Given the description of an element on the screen output the (x, y) to click on. 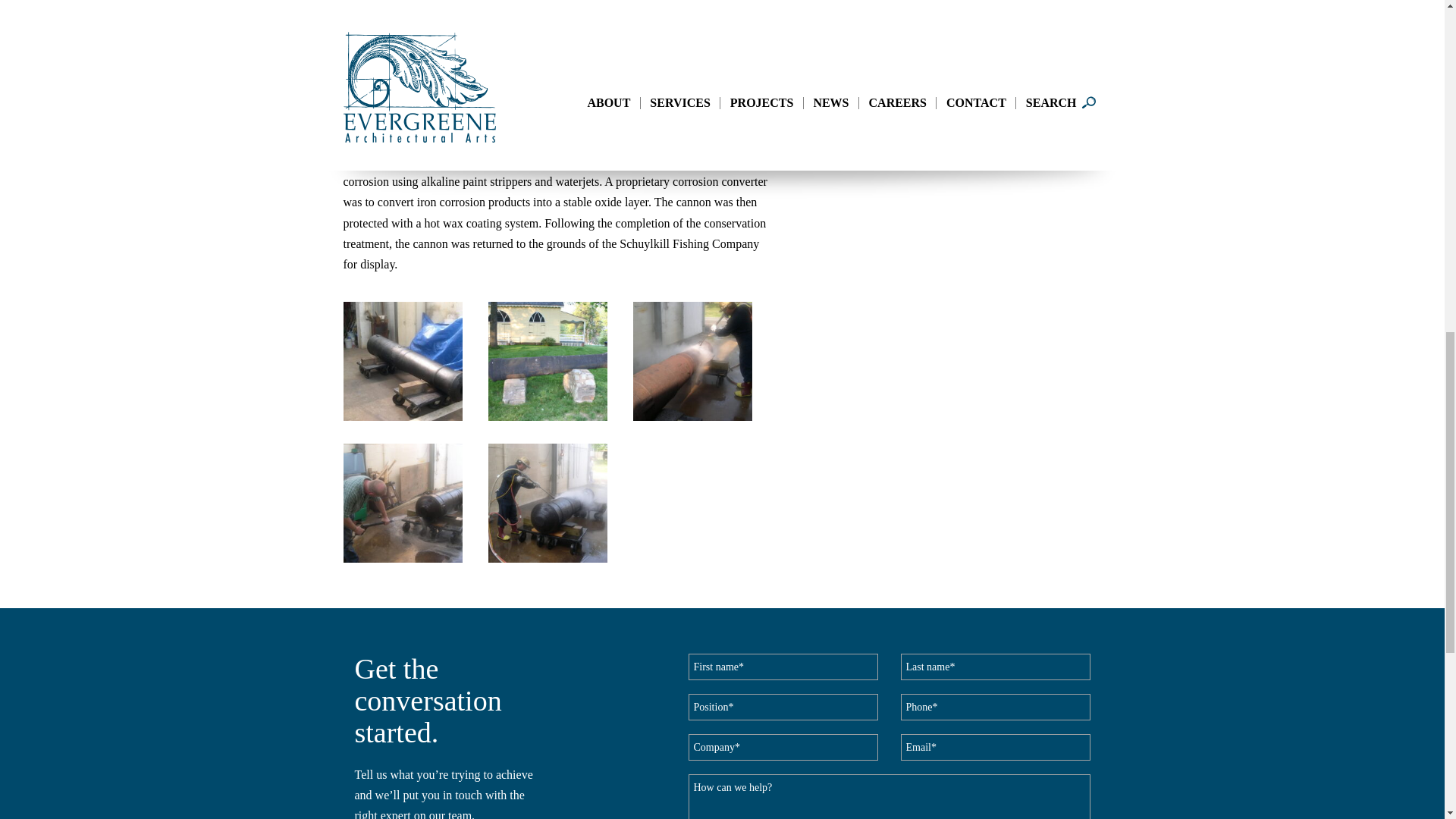
Cannon Upon Completion of Conservation Treatment (401, 361)
Initial Conditions of Cannon (547, 361)
Cannon During Treatment (547, 502)
Cannon During Treatment (401, 502)
Cannon During Treatment (691, 361)
